Given the description of an element on the screen output the (x, y) to click on. 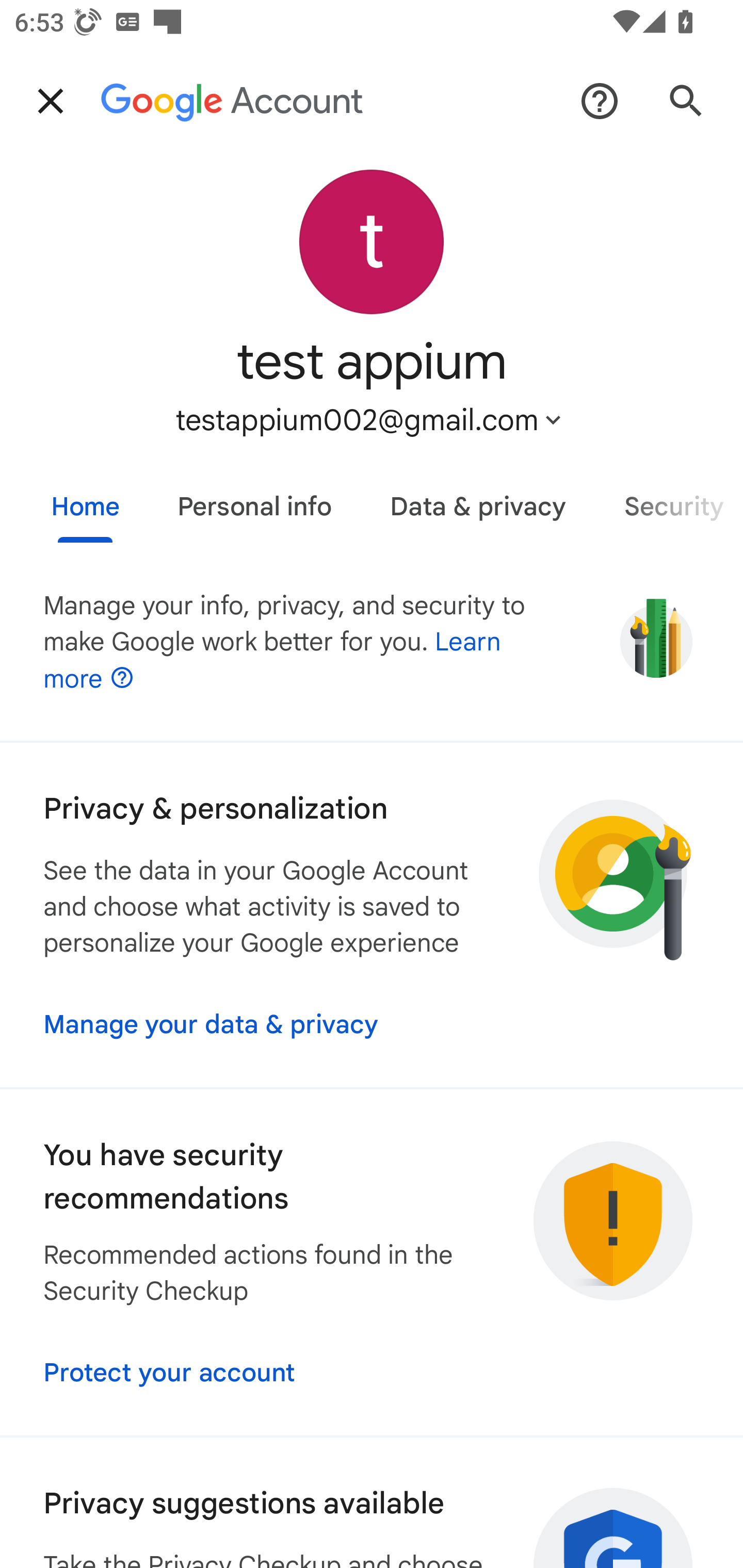
Close (50, 101)
Help (599, 101)
Search (685, 101)
Personal info (254, 499)
Data & privacy (477, 499)
Security (669, 499)
